Given the description of an element on the screen output the (x, y) to click on. 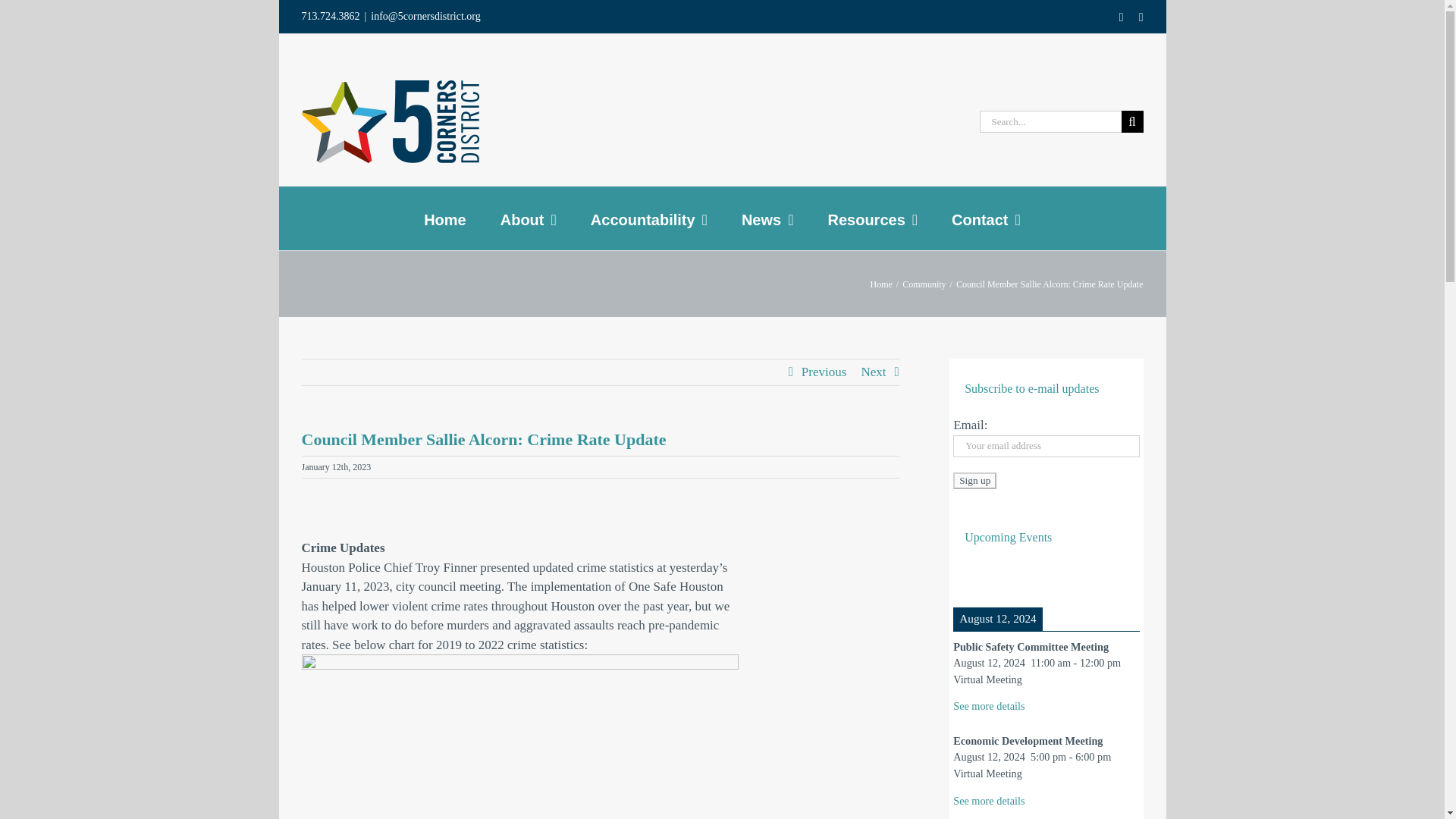
Accountability (649, 218)
Sign up (974, 480)
